Given the description of an element on the screen output the (x, y) to click on. 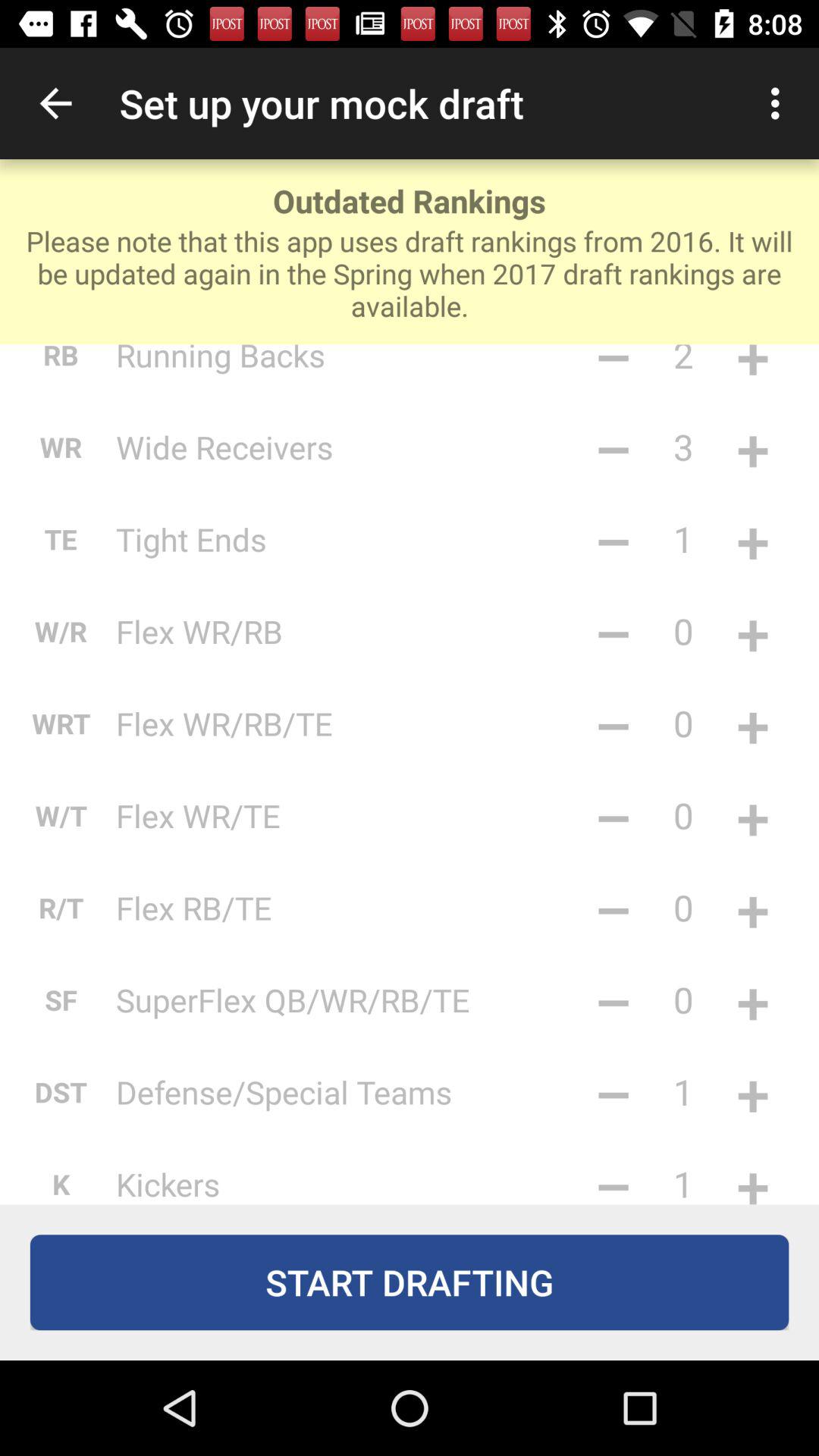
flip to the + (752, 538)
